Given the description of an element on the screen output the (x, y) to click on. 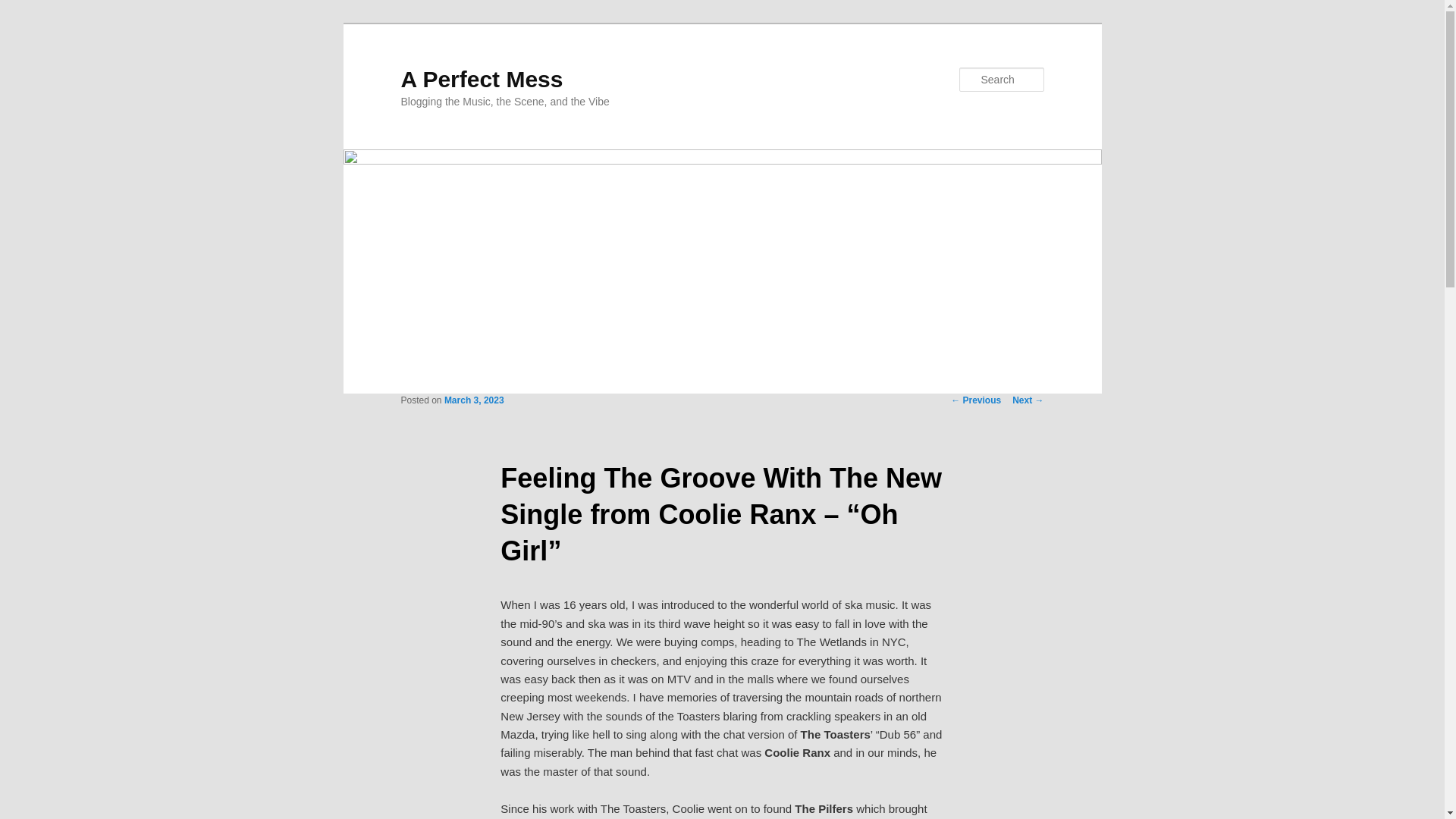
March 3, 2023 (473, 399)
4:04 pm (473, 399)
A Perfect Mess (481, 78)
Search (24, 8)
